Given the description of an element on the screen output the (x, y) to click on. 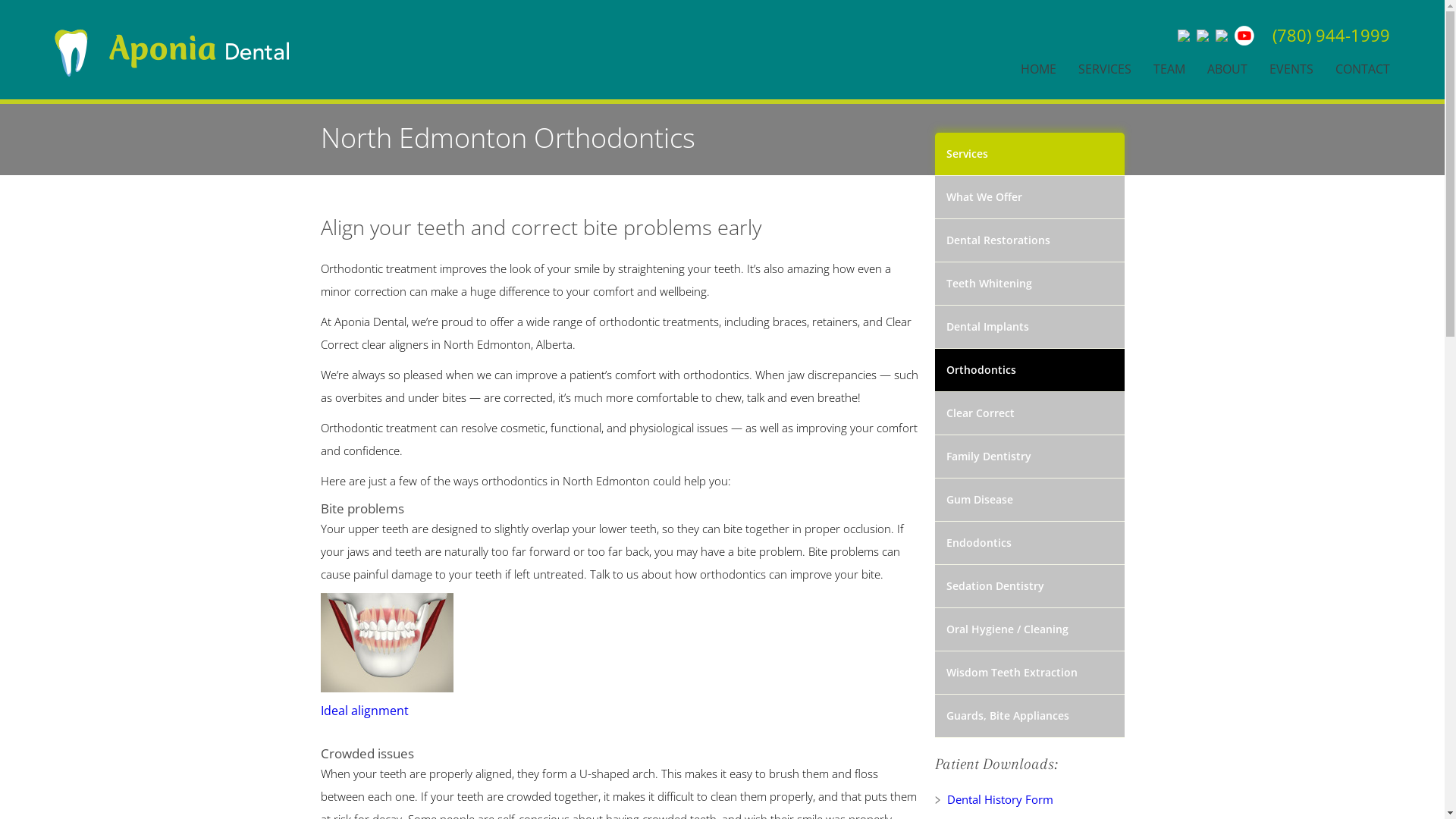
Ideal alignment Element type: text (619, 700)
Contact Element type: text (336, 52)
Endodontics Element type: text (1028, 542)
Orthodontics Element type: text (1028, 370)
Videos Element type: text (333, 18)
ABOUT Element type: text (1227, 65)
Guards, Bite Appliances Element type: text (1028, 715)
CONTACT Element type: text (1362, 65)
Dental Restorations Element type: text (1028, 240)
Home Element type: hover (267, 52)
Gum Disease Element type: text (1028, 499)
Family Dentistry Element type: text (1028, 456)
SERVICES Element type: text (1104, 65)
(780) 944-1999 Element type: text (1331, 36)
Oral Hygiene / Cleaning Element type: text (1028, 629)
Clear Correct Element type: text (1028, 413)
Dental Implants Element type: text (1028, 326)
HOME Element type: text (1038, 65)
Teeth Whitening Element type: text (1028, 283)
TEAM Element type: text (1169, 65)
Wisdom Teeth Extraction Element type: text (1028, 672)
EVENTS Element type: text (1291, 65)
What We Offer Element type: text (1028, 197)
Sedation Dentistry Element type: text (1028, 586)
Dental History Form Element type: text (1028, 798)
